Given the description of an element on the screen output the (x, y) to click on. 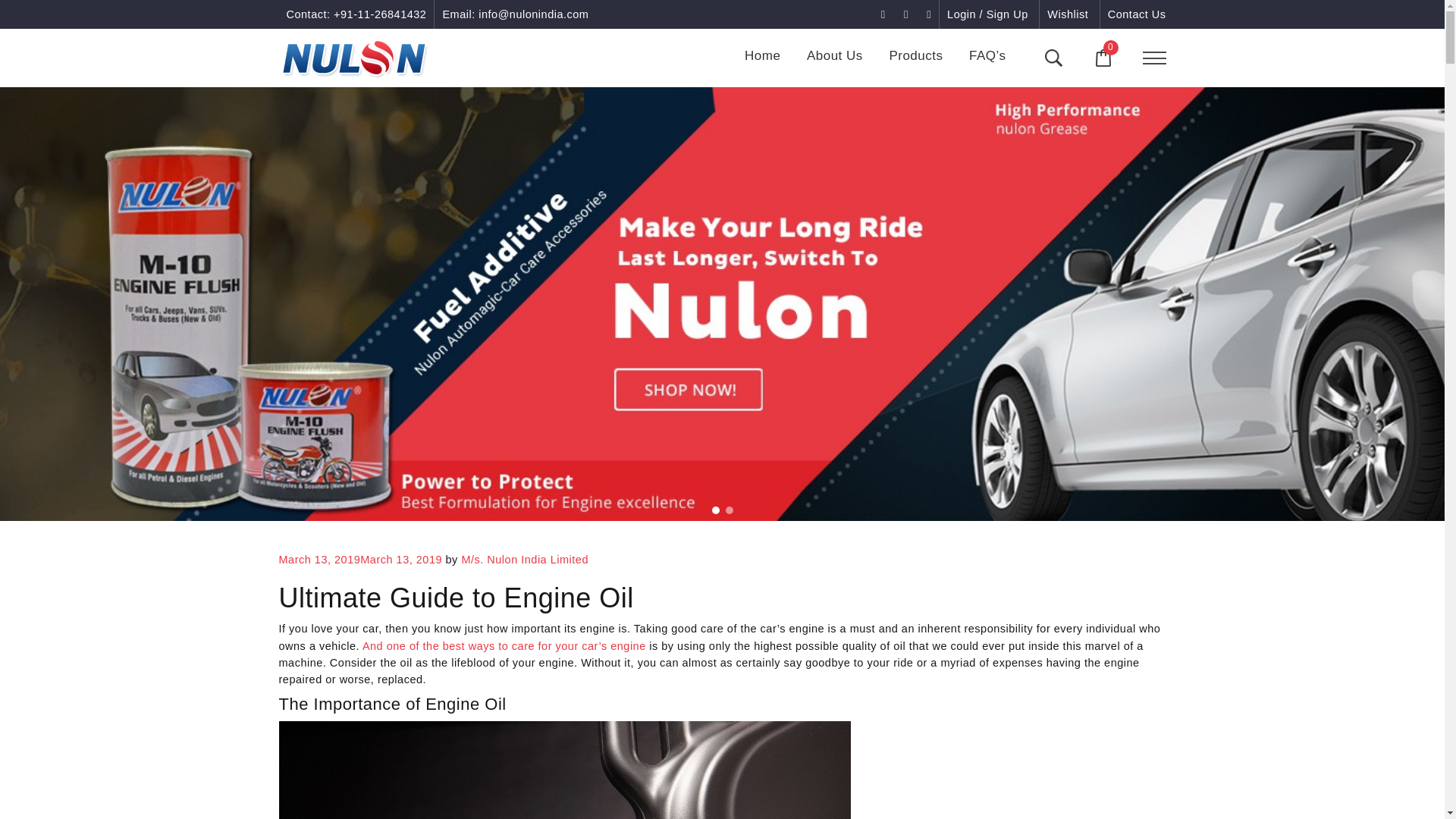
Google Plus (907, 14)
Twitter (928, 14)
Login (987, 14)
Facebook (884, 14)
Contact Us (1137, 14)
Wishlist (1066, 14)
